Given the description of an element on the screen output the (x, y) to click on. 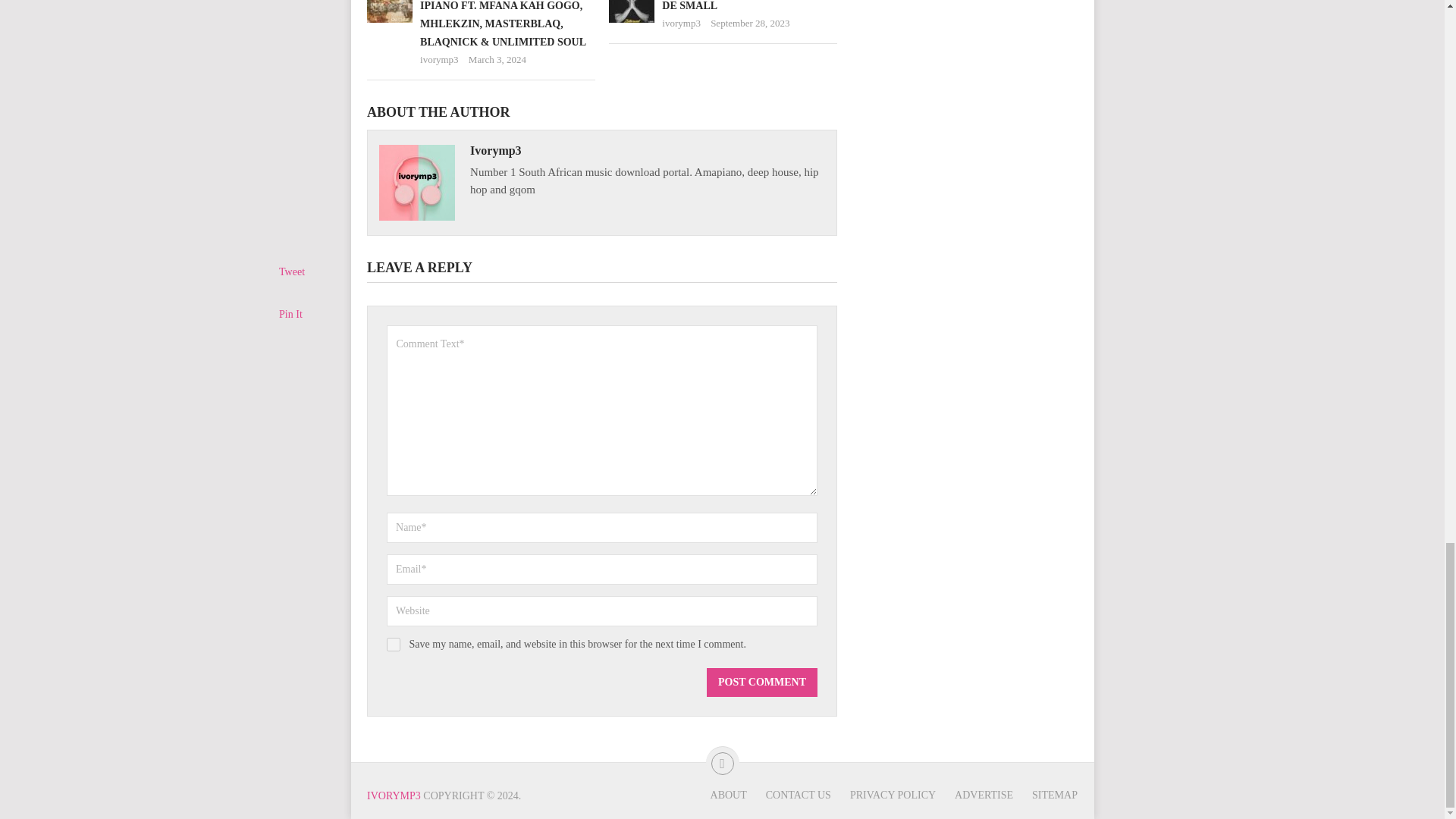
yes (393, 644)
Post Comment (761, 682)
